Given the description of an element on the screen output the (x, y) to click on. 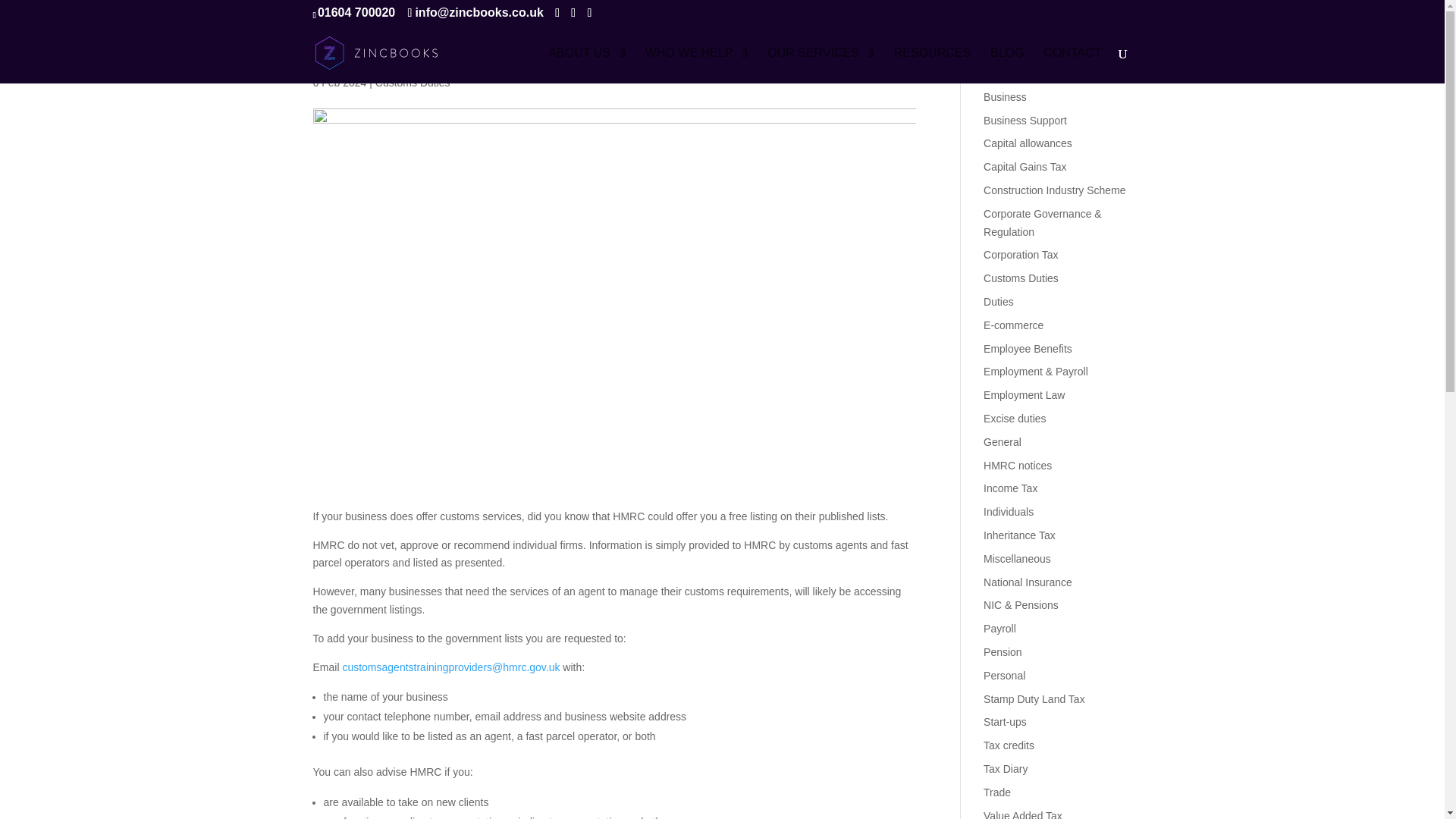
ABOUT US (587, 65)
OUR SERVICES (821, 65)
WHO WE HELP (696, 65)
01604 700020 (355, 11)
